Given the description of an element on the screen output the (x, y) to click on. 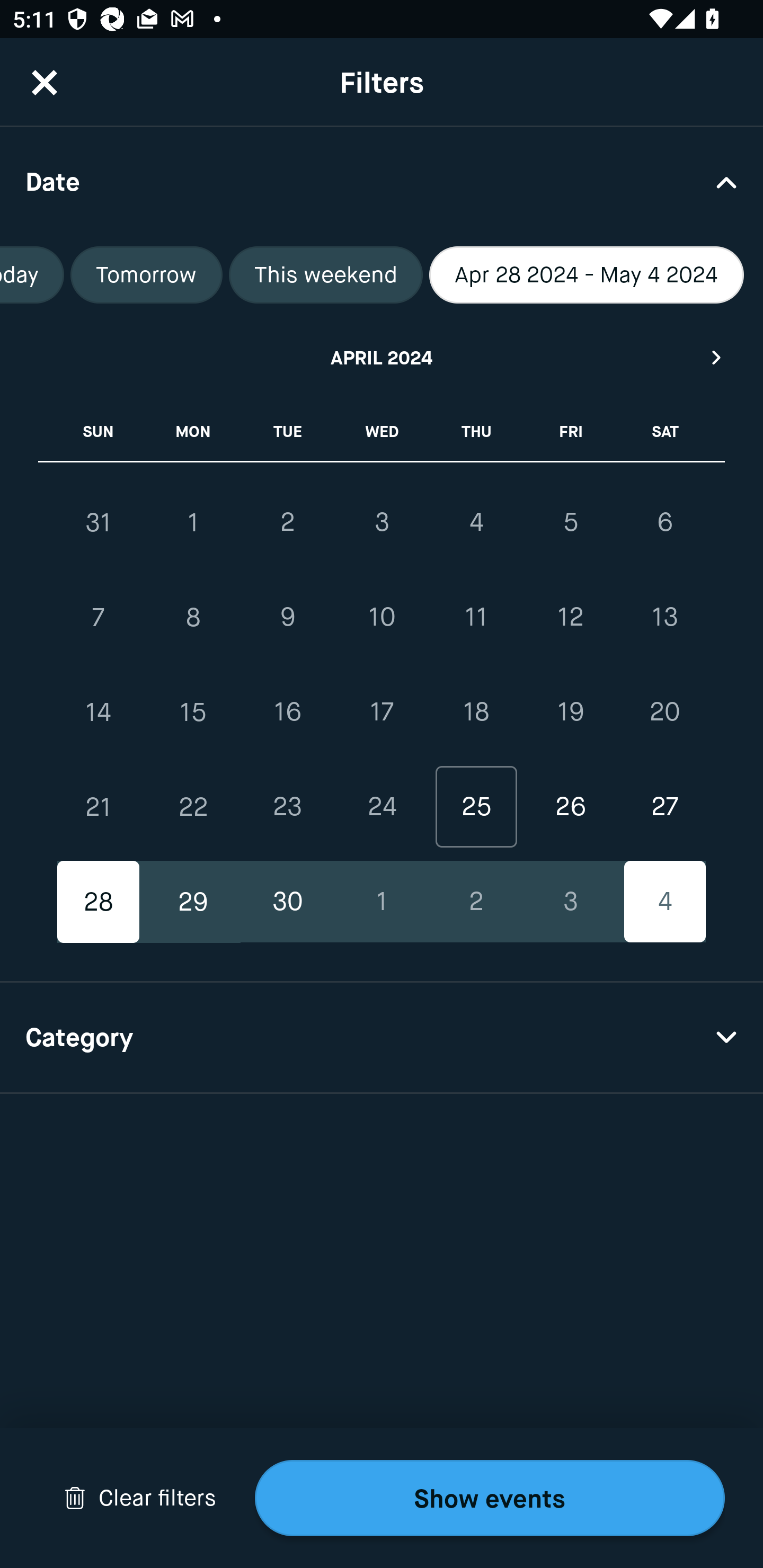
CloseButton (44, 82)
Date Drop Down Arrow (381, 181)
Today (32, 274)
Tomorrow (146, 274)
This weekend (325, 274)
Apr 28 2024 - May 4 2024 (585, 274)
Next (717, 357)
31 (98, 522)
1 (192, 522)
2 (287, 522)
3 (381, 522)
4 (475, 522)
5 (570, 522)
6 (664, 522)
7 (98, 617)
8 (192, 617)
9 (287, 617)
10 (381, 617)
11 (475, 617)
12 (570, 617)
13 (664, 617)
14 (98, 711)
15 (192, 711)
16 (287, 711)
17 (381, 711)
18 (475, 711)
19 (570, 711)
20 (664, 711)
21 (98, 806)
22 (192, 806)
23 (287, 806)
24 (381, 806)
25 (475, 806)
26 (570, 806)
27 (664, 806)
28 (98, 901)
29 (192, 901)
30 (287, 901)
1 (381, 901)
2 (475, 901)
3 (570, 901)
4 (664, 901)
Category Drop Down Arrow (381, 1038)
Drop Down Arrow Clear filters (139, 1497)
Show events (489, 1497)
